Given the description of an element on the screen output the (x, y) to click on. 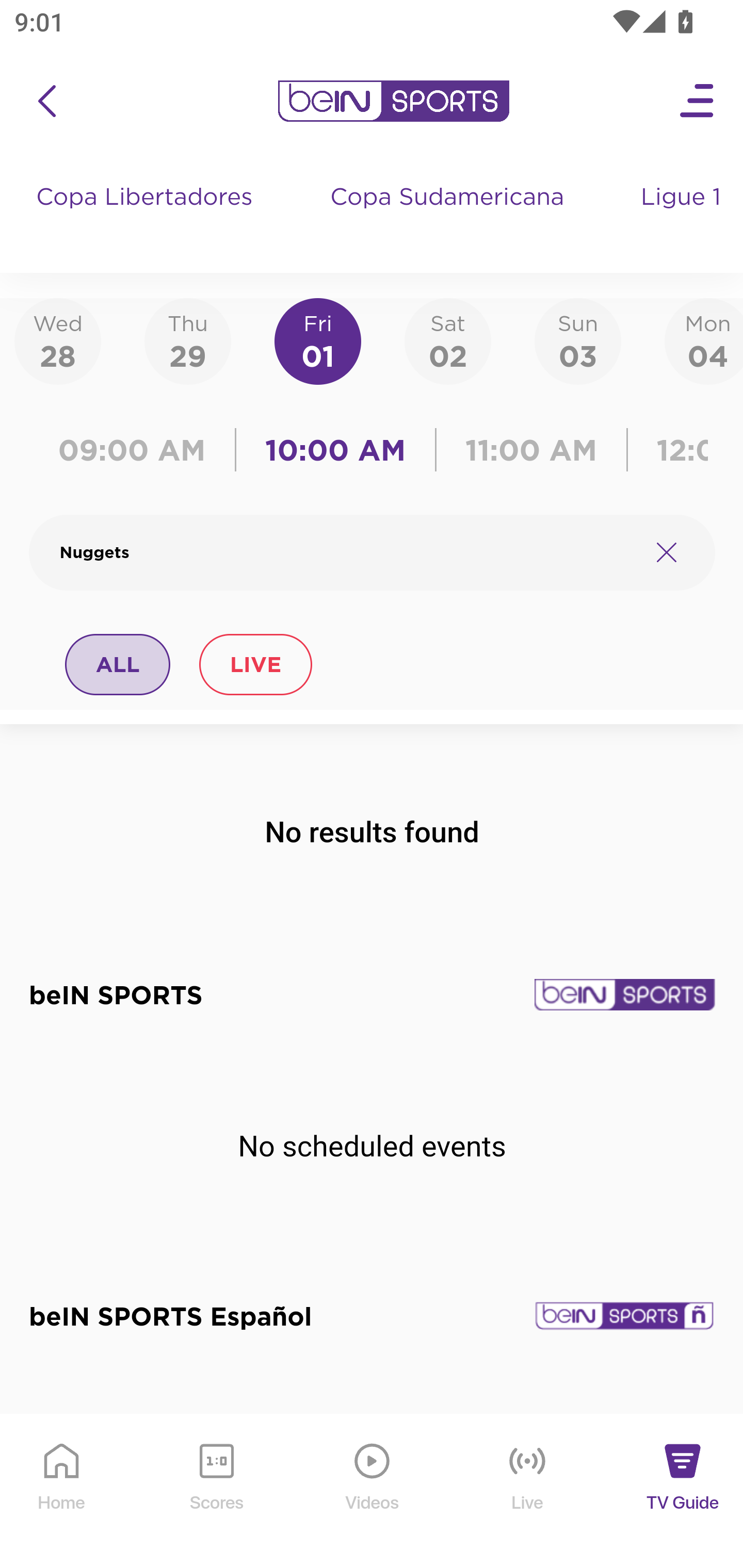
en-us?platform=mobile_android bein logo (392, 101)
icon back (46, 101)
Open Menu Icon (697, 101)
Copa Libertadores (146, 216)
Copa Sudamericana (448, 216)
Ligue 1 (682, 216)
Wed28 (58, 340)
Thu29 (187, 340)
Fri01 (318, 340)
Sat02 (447, 340)
Sun03 (578, 340)
Mon04 (703, 340)
09:00 AM (136, 449)
10:00 AM (335, 449)
11:00 AM (531, 449)
Nuggets (346, 552)
ALL (118, 663)
LIVE (255, 663)
Home Home Icon Home (61, 1491)
Scores Scores Icon Scores (216, 1491)
Videos Videos Icon Videos (372, 1491)
TV Guide TV Guide Icon TV Guide (682, 1491)
